Given the description of an element on the screen output the (x, y) to click on. 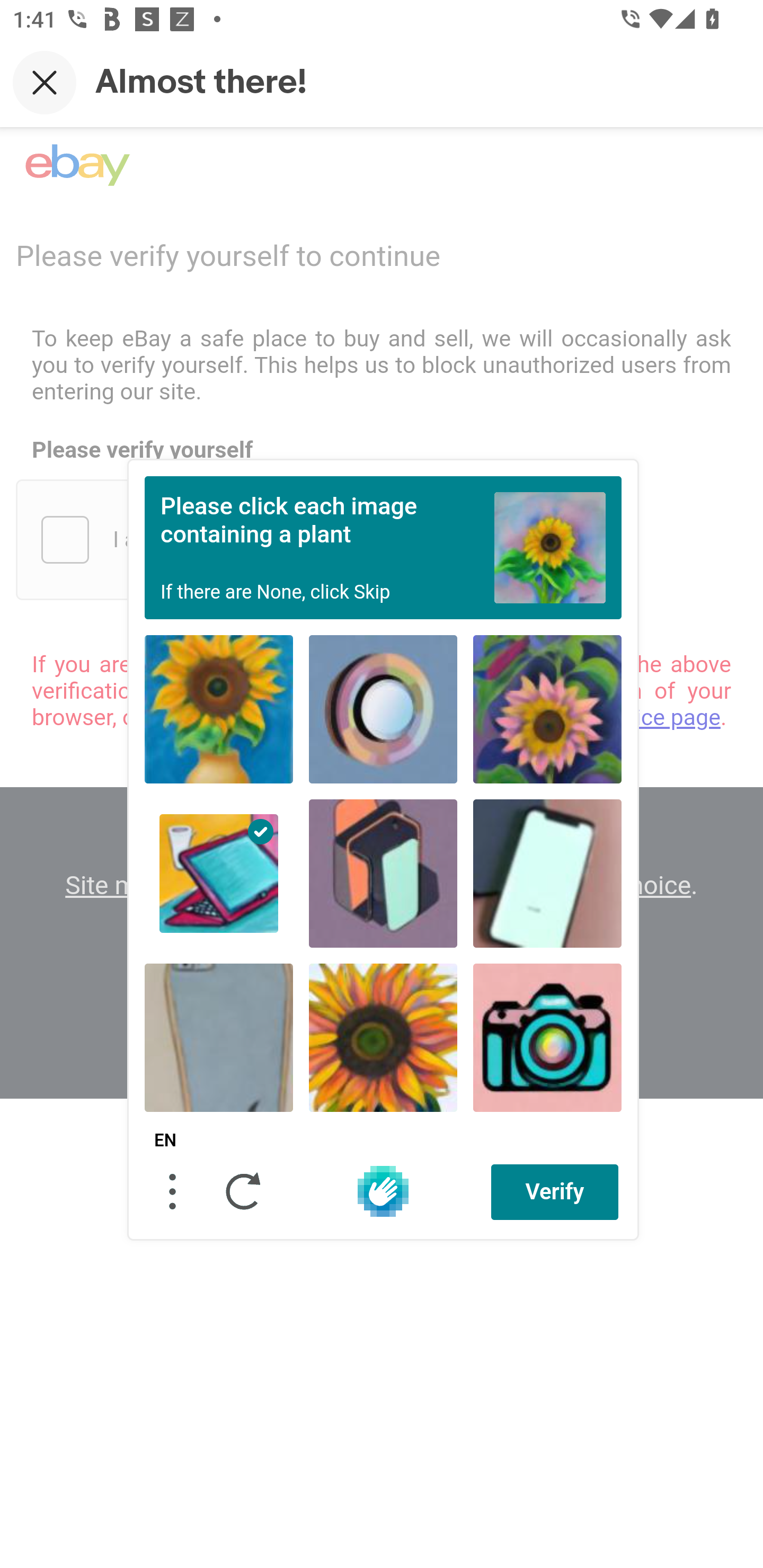
Close (44, 82)
Example image 1 (549, 546)
Challenge Image 1 (218, 708)
Challenge Image 2 (382, 708)
Challenge Image 3 (546, 708)
Challenge Image 4 (218, 873)
Challenge Image 5 (382, 873)
Challenge Image 6 (546, 873)
Challenge Image 7 (218, 1036)
Challenge Image 8 (382, 1036)
Challenge Image 9 (546, 1036)
English (165, 1140)
Verify Answers (554, 1191)
Refresh Challenge. (243, 1190)
hCaptcha (382, 1190)
